Given the description of an element on the screen output the (x, y) to click on. 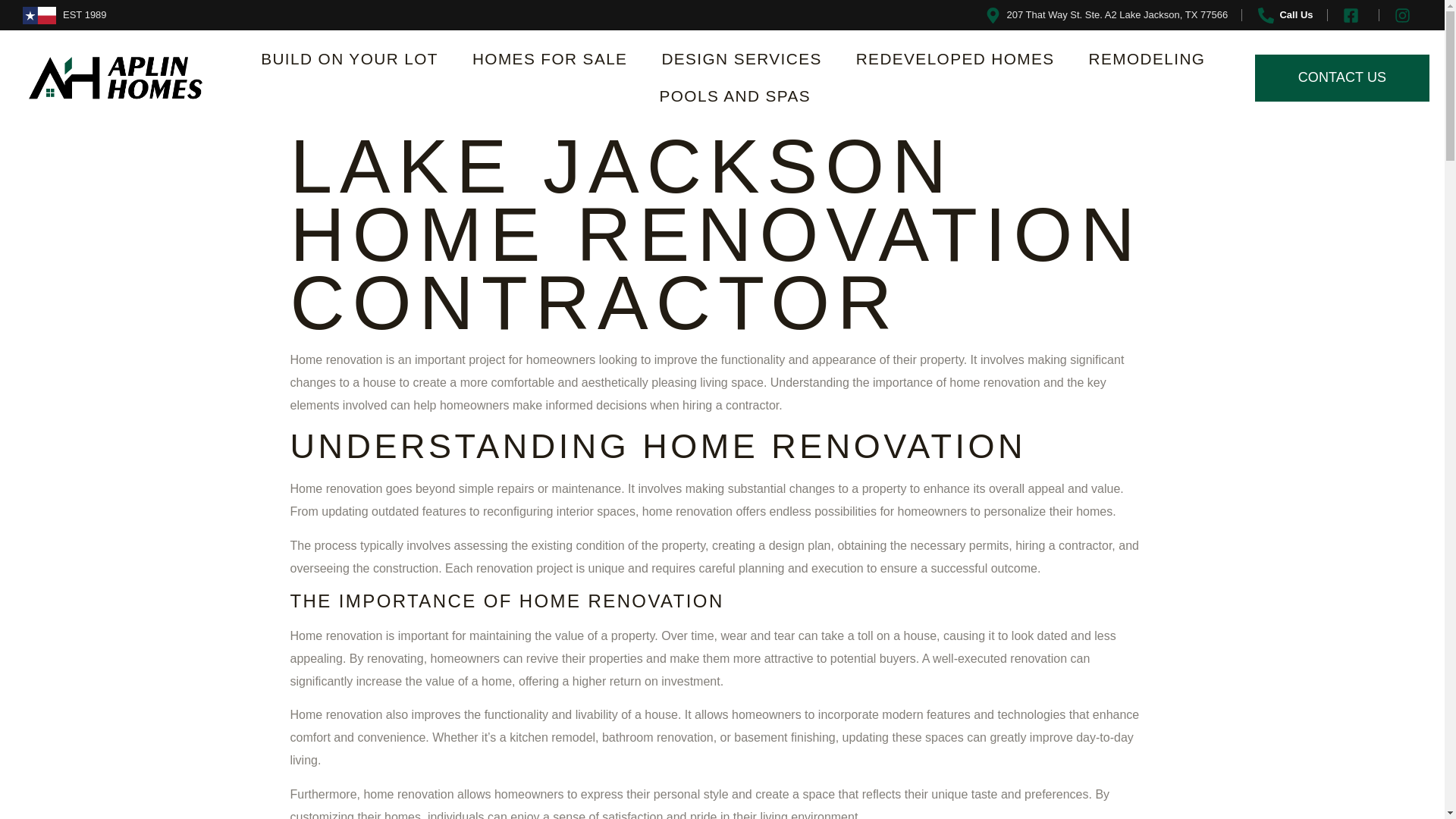
REMODELING (1147, 58)
DESIGN SERVICES (740, 58)
Call Us (1284, 15)
CONTACT US (1342, 77)
HOMES FOR SALE (550, 58)
POOLS AND SPAS (736, 96)
BUILD ON YOUR LOT (349, 58)
REDEVELOPED HOMES (955, 58)
